Given the description of an element on the screen output the (x, y) to click on. 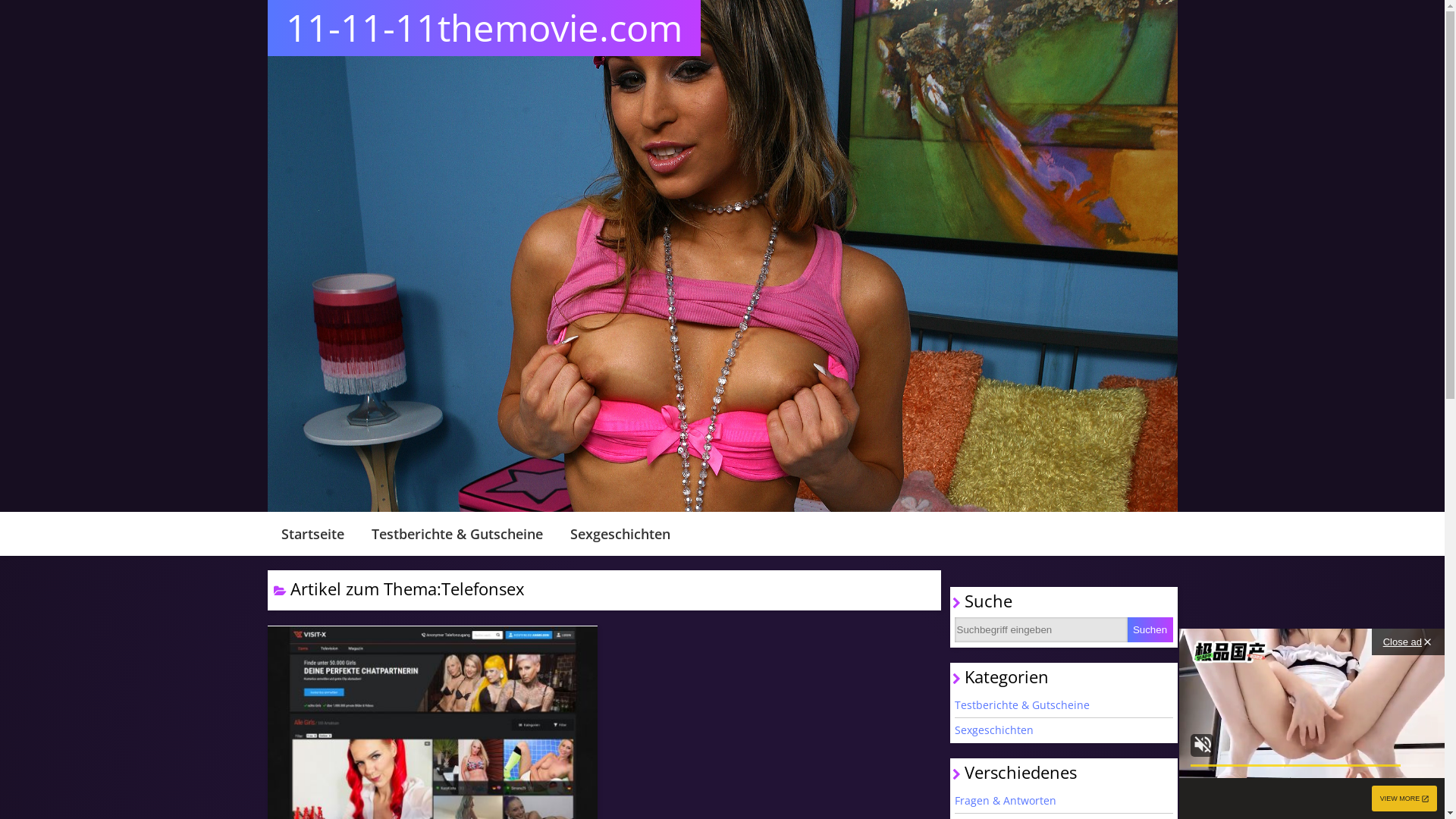
Testberichte & Gutscheine Element type: text (456, 533)
Startseite Element type: text (311, 533)
Suchen Element type: text (1149, 629)
Sexgeschichten Element type: text (1062, 730)
Fragen & Antworten Element type: text (1062, 800)
Testberichte & Gutscheine Element type: text (1062, 705)
Sexgeschichten Element type: text (620, 533)
